Given the description of an element on the screen output the (x, y) to click on. 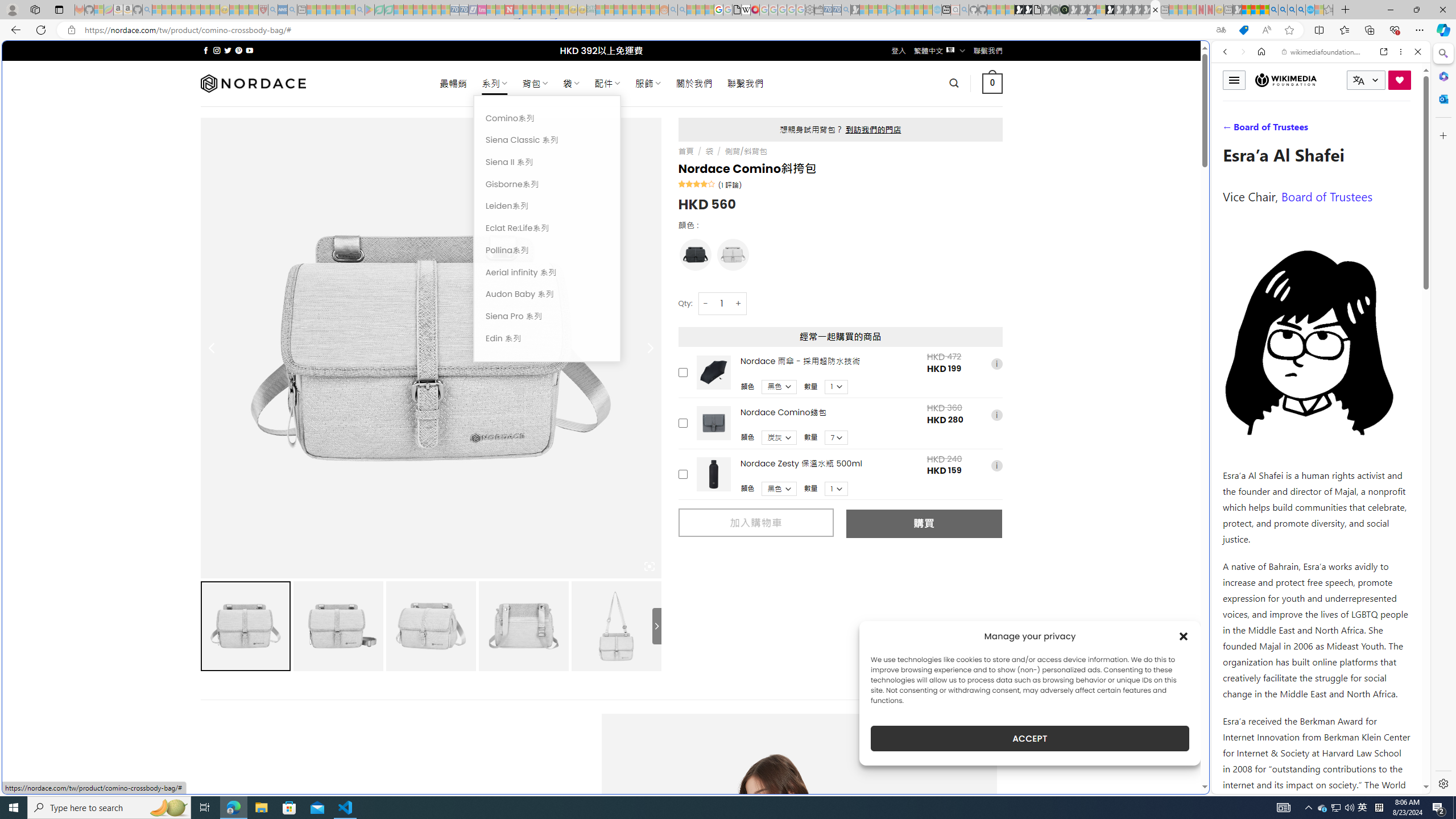
Search or enter web address (922, 108)
Future Focus Report 2024 (1064, 9)
This site scope (1259, 102)
Search Filter, IMAGES (1262, 129)
CURRENT LANGUAGE: (1366, 80)
Search Filter, WEB (1230, 129)
